Given the description of an element on the screen output the (x, y) to click on. 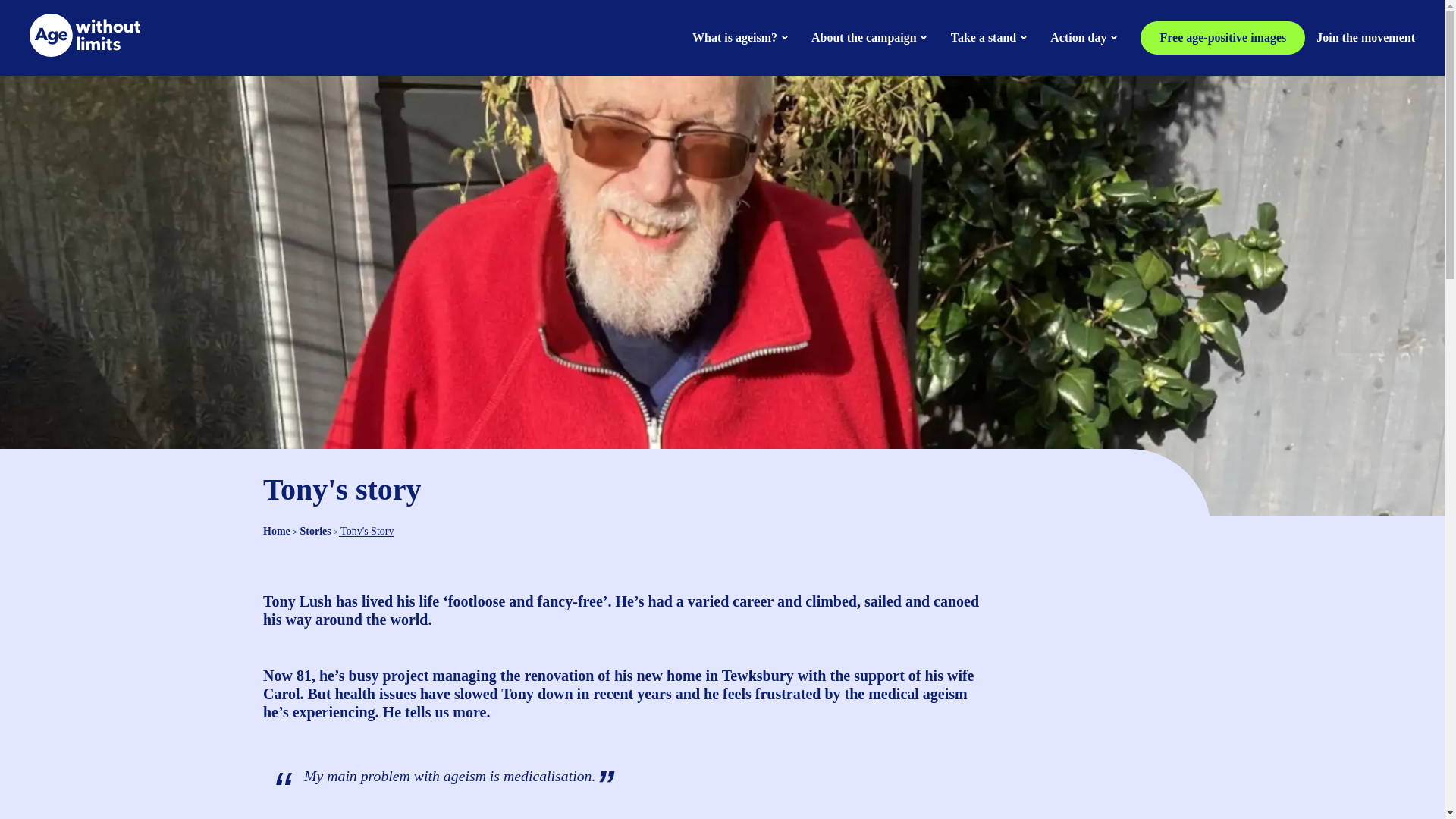
Join the movement (1365, 37)
Age without limits (84, 51)
Free age-positive images (1222, 37)
